Given the description of an element on the screen output the (x, y) to click on. 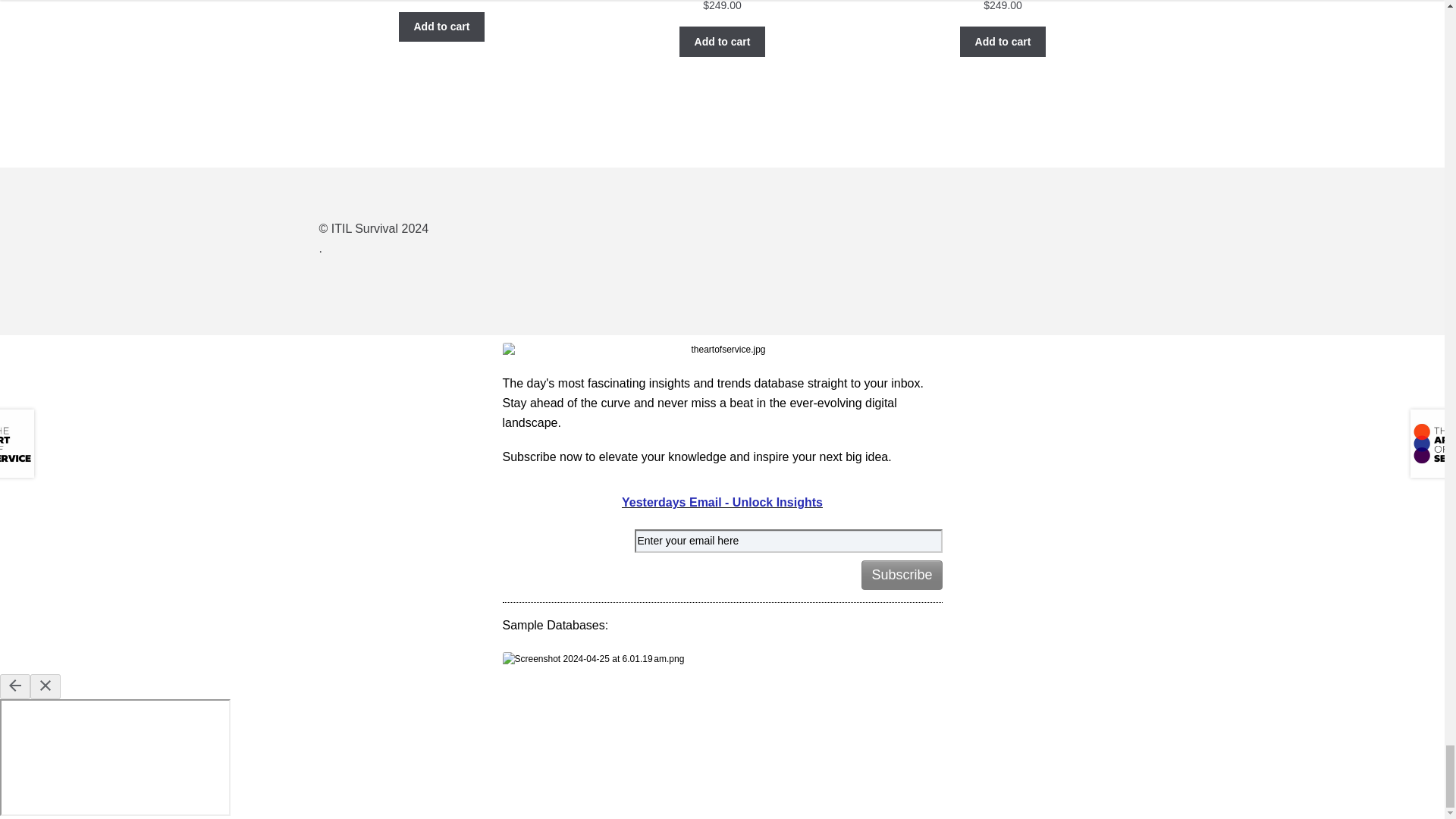
Add to cart (1002, 41)
Subscribe (901, 574)
Add to cart (722, 41)
Add to cart (441, 27)
Enter your email here (787, 540)
